Given the description of an element on the screen output the (x, y) to click on. 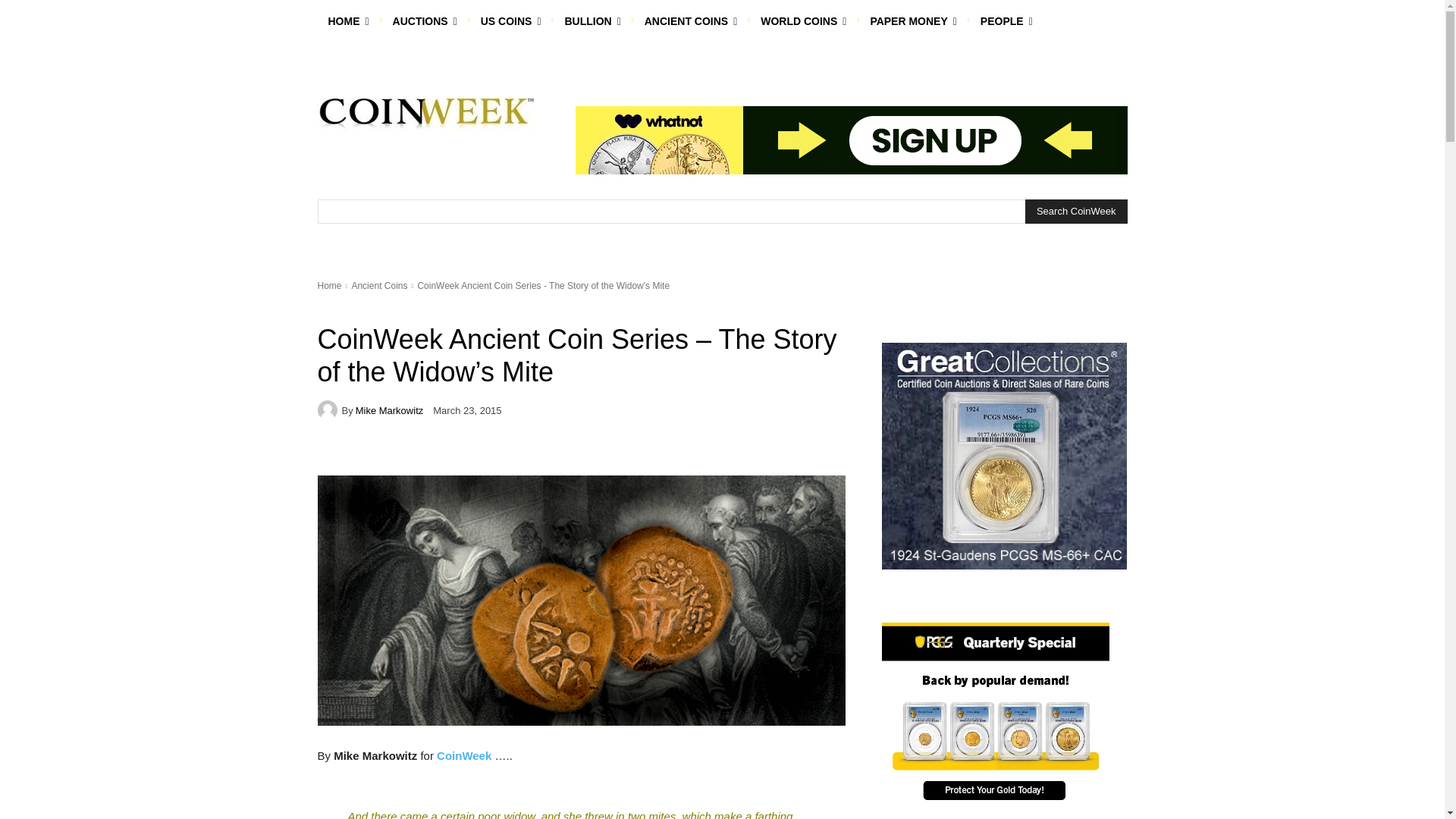
AUCTIONS (424, 21)
HOME (347, 21)
View all posts in Ancient Coins (378, 285)
Mike Markowitz (328, 410)
